Given the description of an element on the screen output the (x, y) to click on. 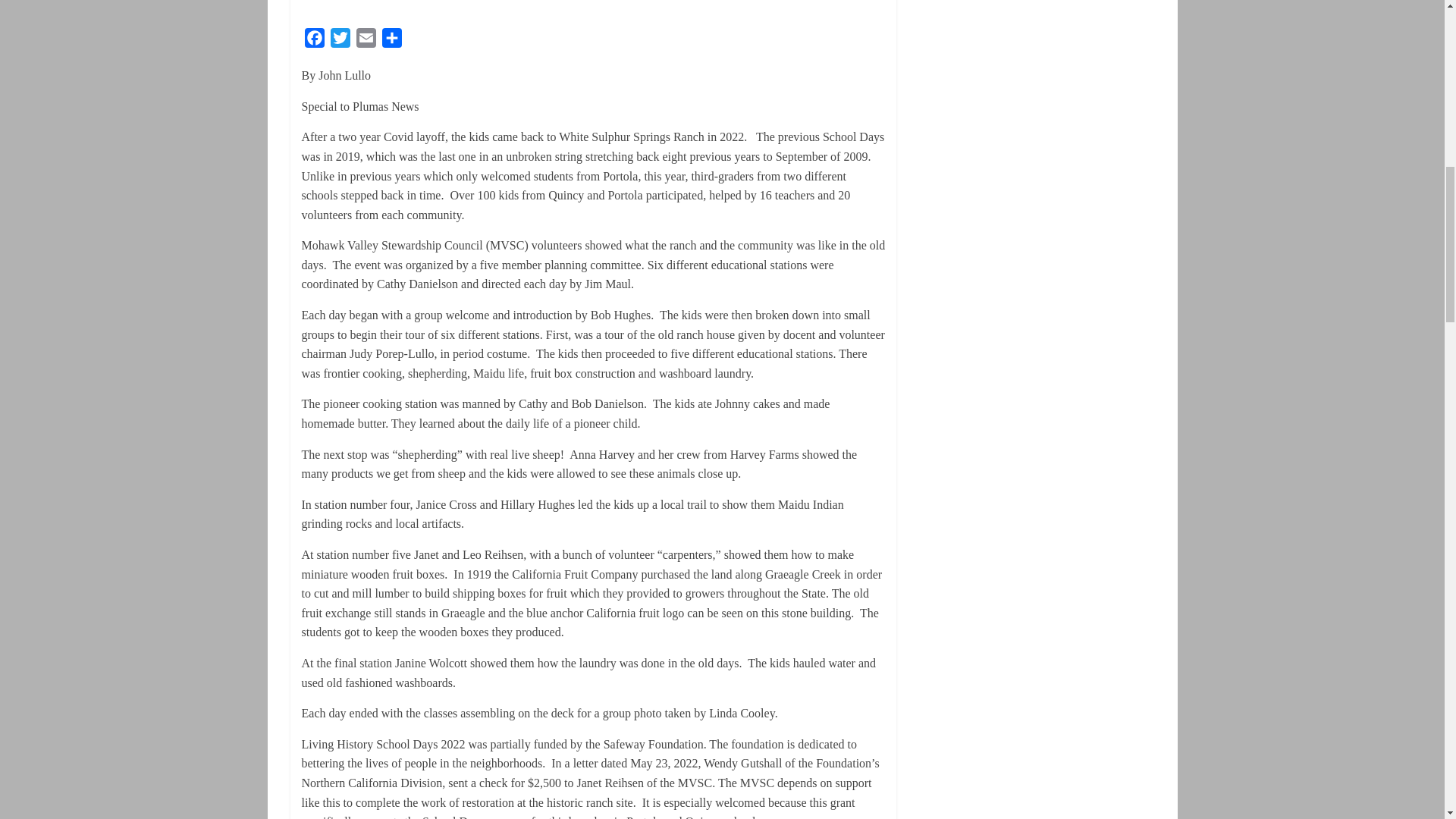
Facebook (314, 40)
Email (365, 40)
Twitter (340, 40)
